Given the description of an element on the screen output the (x, y) to click on. 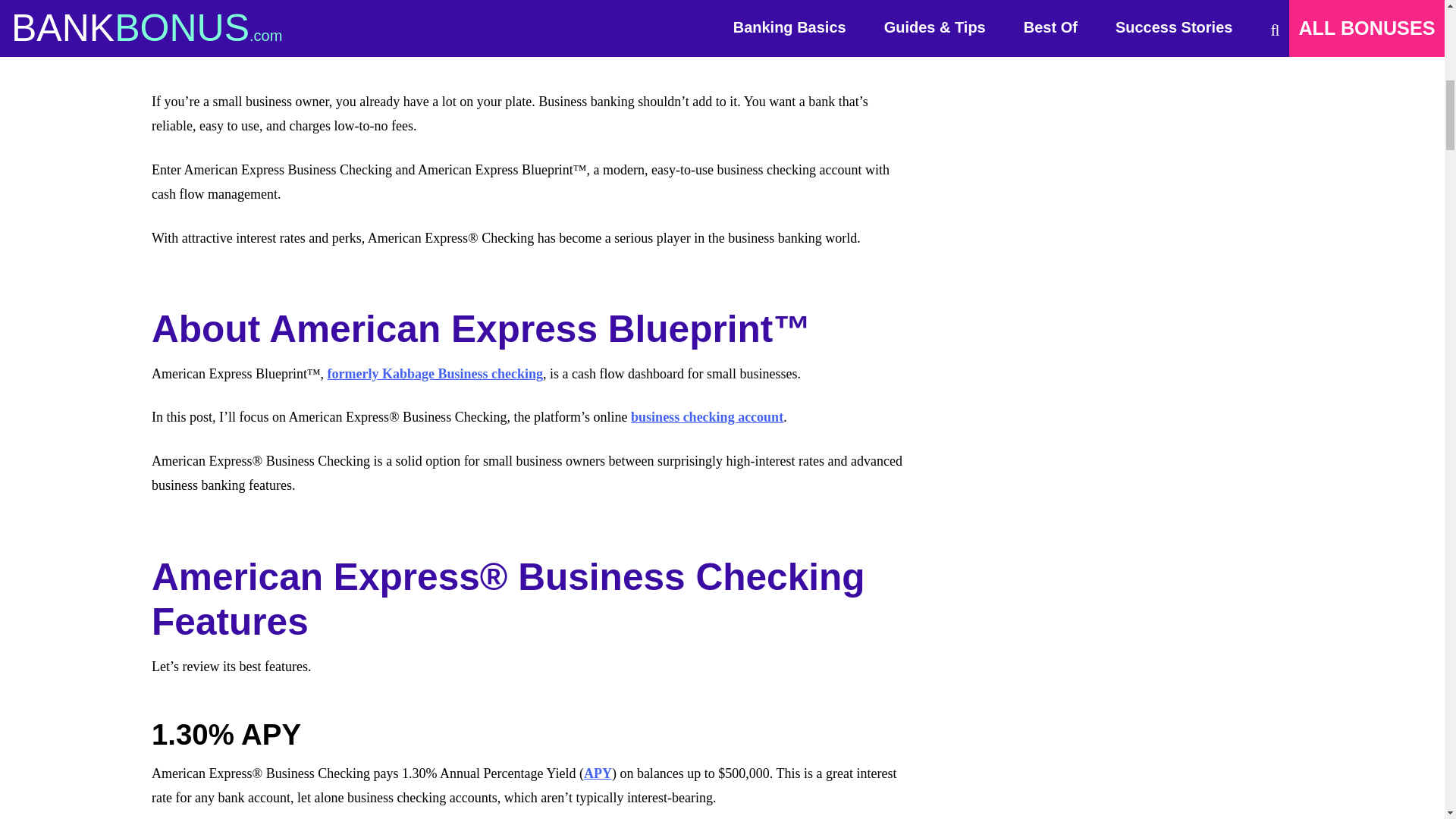
Fees (1158, 186)
business checking account (706, 417)
Features (1158, 160)
Customer Service (1158, 290)
APY (597, 773)
Getting Started (1158, 211)
Promotions (1158, 237)
Security (1158, 263)
About (1158, 133)
Frequently Asked Questions (1158, 367)
